Given the description of an element on the screen output the (x, y) to click on. 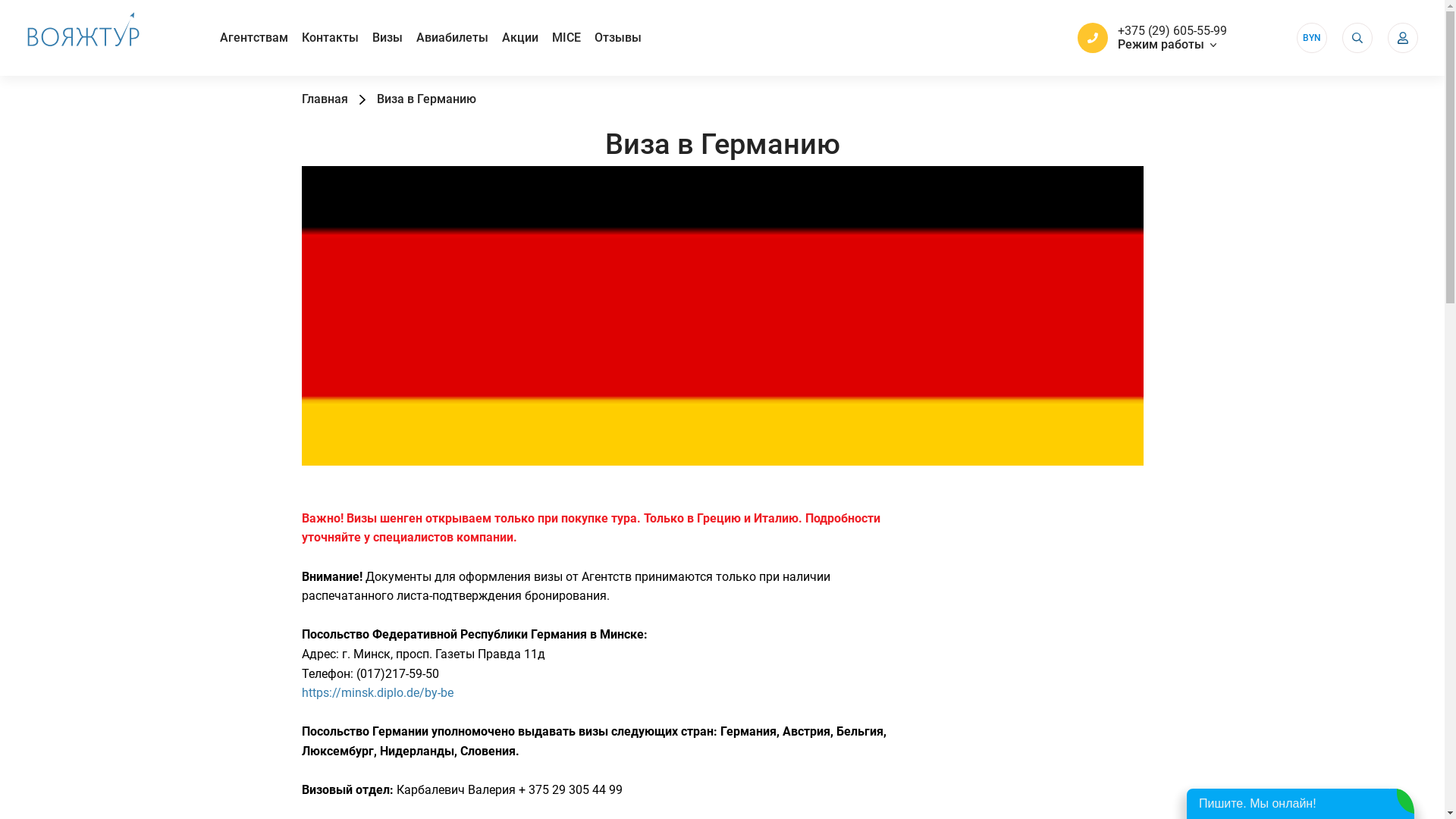
MICE Element type: text (566, 37)
https://minsk.diplo.de/by-be Element type: text (377, 692)
+375 (29) 605-55-99 Element type: text (1171, 31)
